Given the description of an element on the screen output the (x, y) to click on. 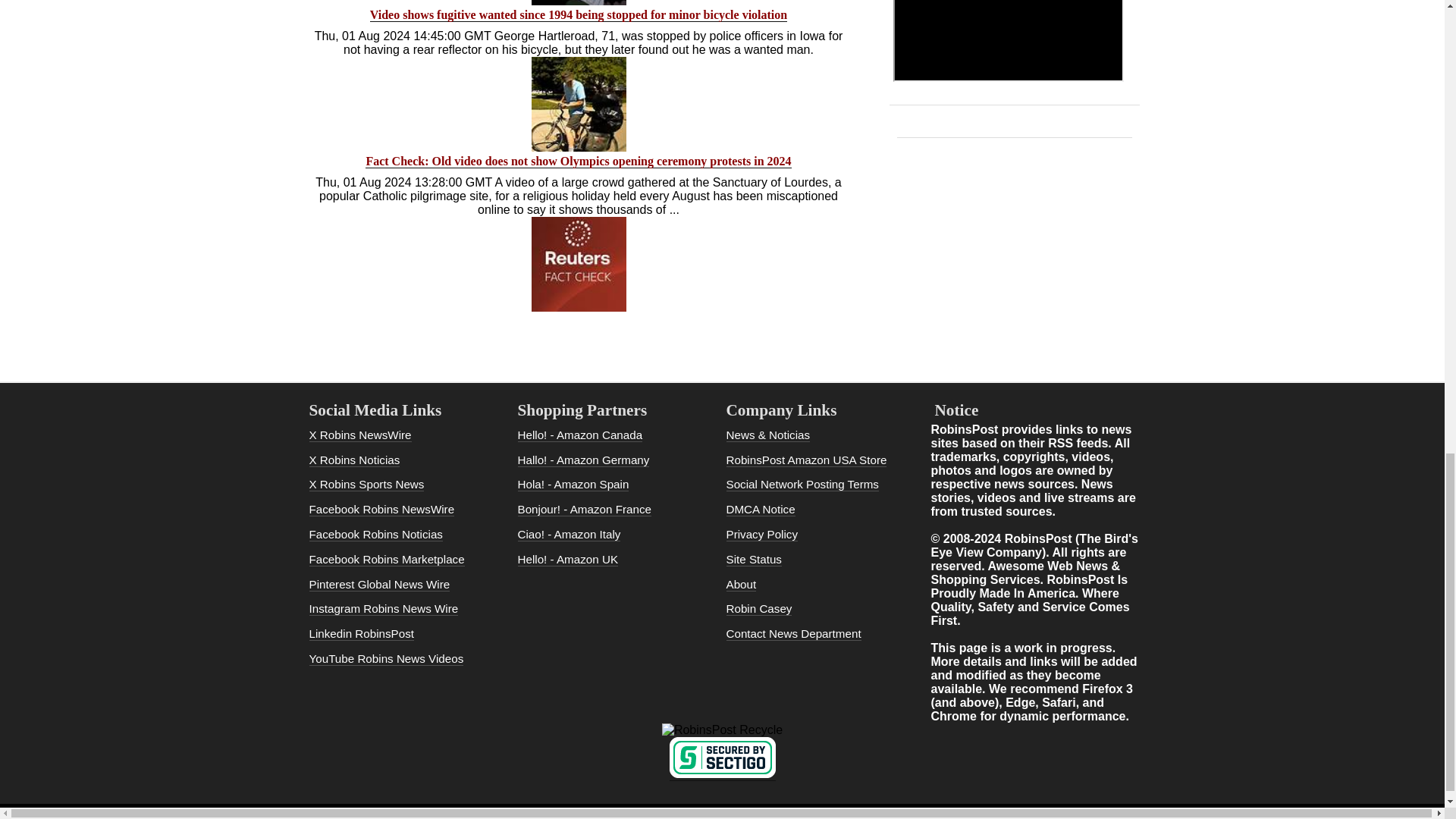
Facebook Robins Noticias (375, 534)
Privacy Policy (761, 534)
Linkedin RobinsPost (360, 633)
Pinterest Global News Wire (378, 584)
X Robins Noticias (354, 459)
Instagram Robins News Wire (383, 608)
DMCA Notice (760, 509)
Contact News Department (793, 633)
Bonjour! - Amazon France (583, 509)
Site Status (753, 559)
Social Network Posting Terms (802, 484)
Facebook Robins Marketplace (386, 559)
X Robins NewsWire (360, 435)
